Given the description of an element on the screen output the (x, y) to click on. 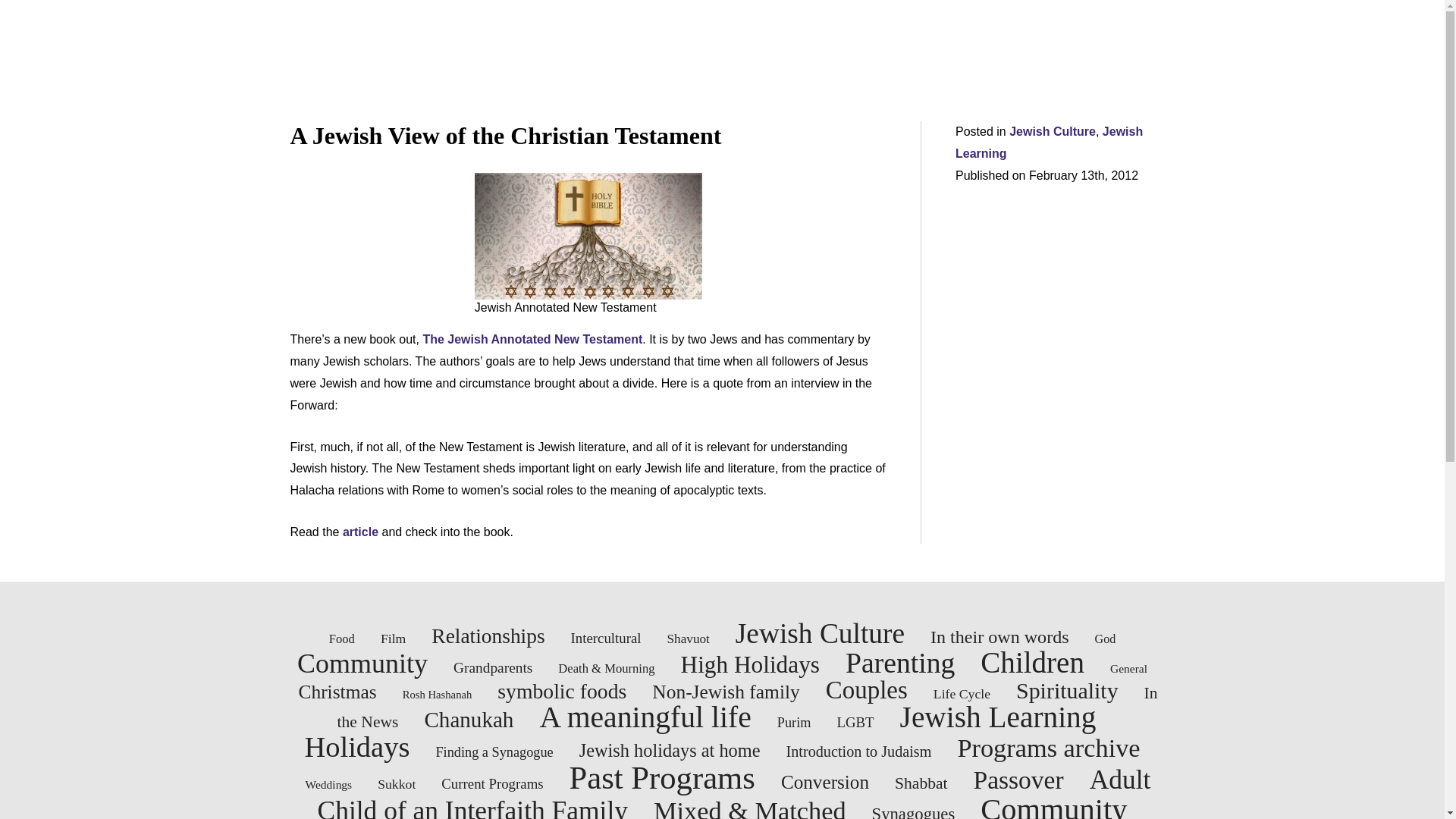
Bible (587, 235)
Search (19, 6)
Jewish Culture (1052, 131)
Shavuot (688, 638)
Intercultural (606, 637)
God (1105, 638)
Jewish Learning (1048, 142)
Grandparents (492, 667)
Jewish Culture (819, 633)
High Holidays (750, 664)
